Given the description of an element on the screen output the (x, y) to click on. 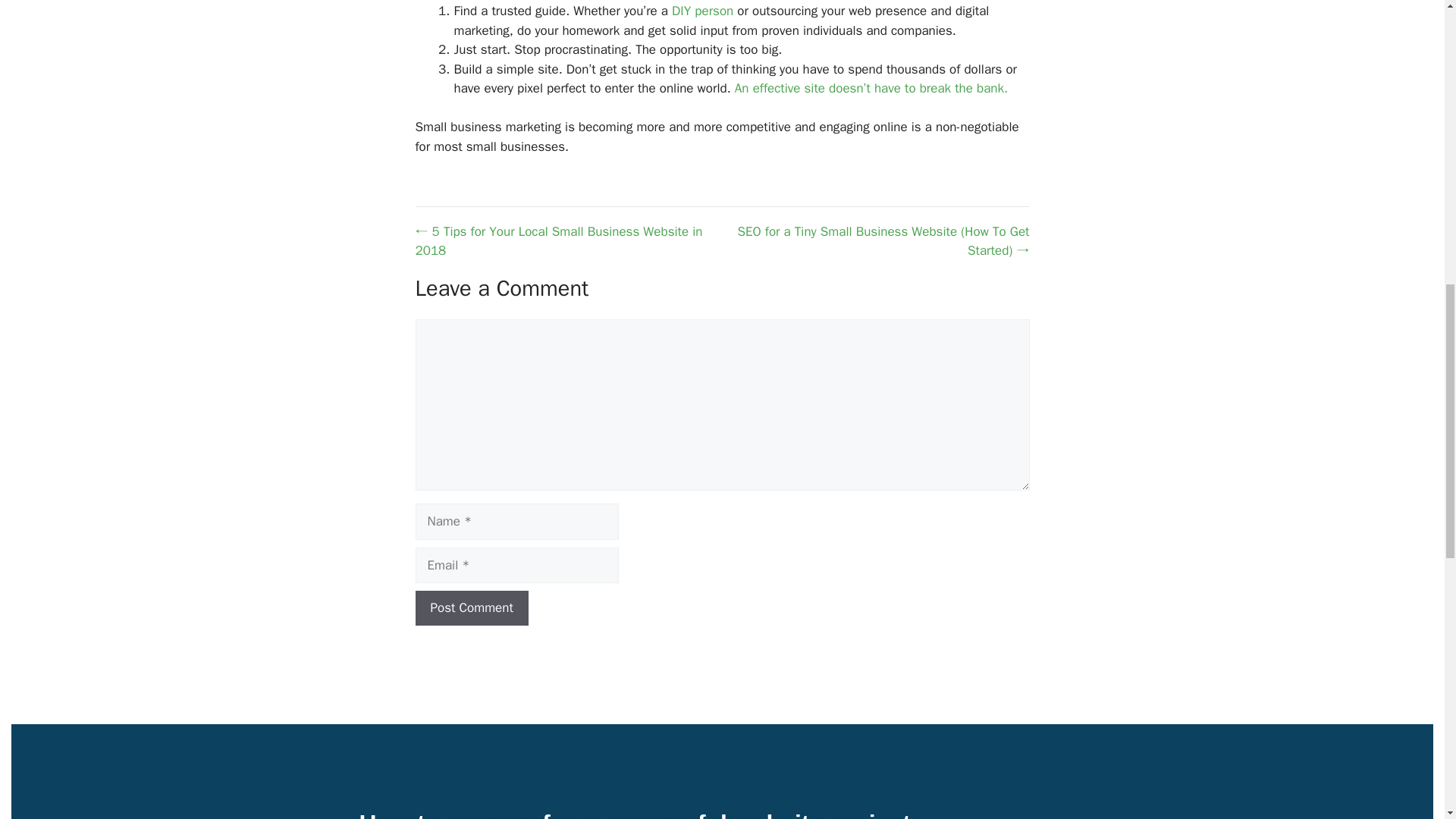
Post Comment (471, 607)
Post Comment (471, 607)
DIY person (702, 10)
